Given the description of an element on the screen output the (x, y) to click on. 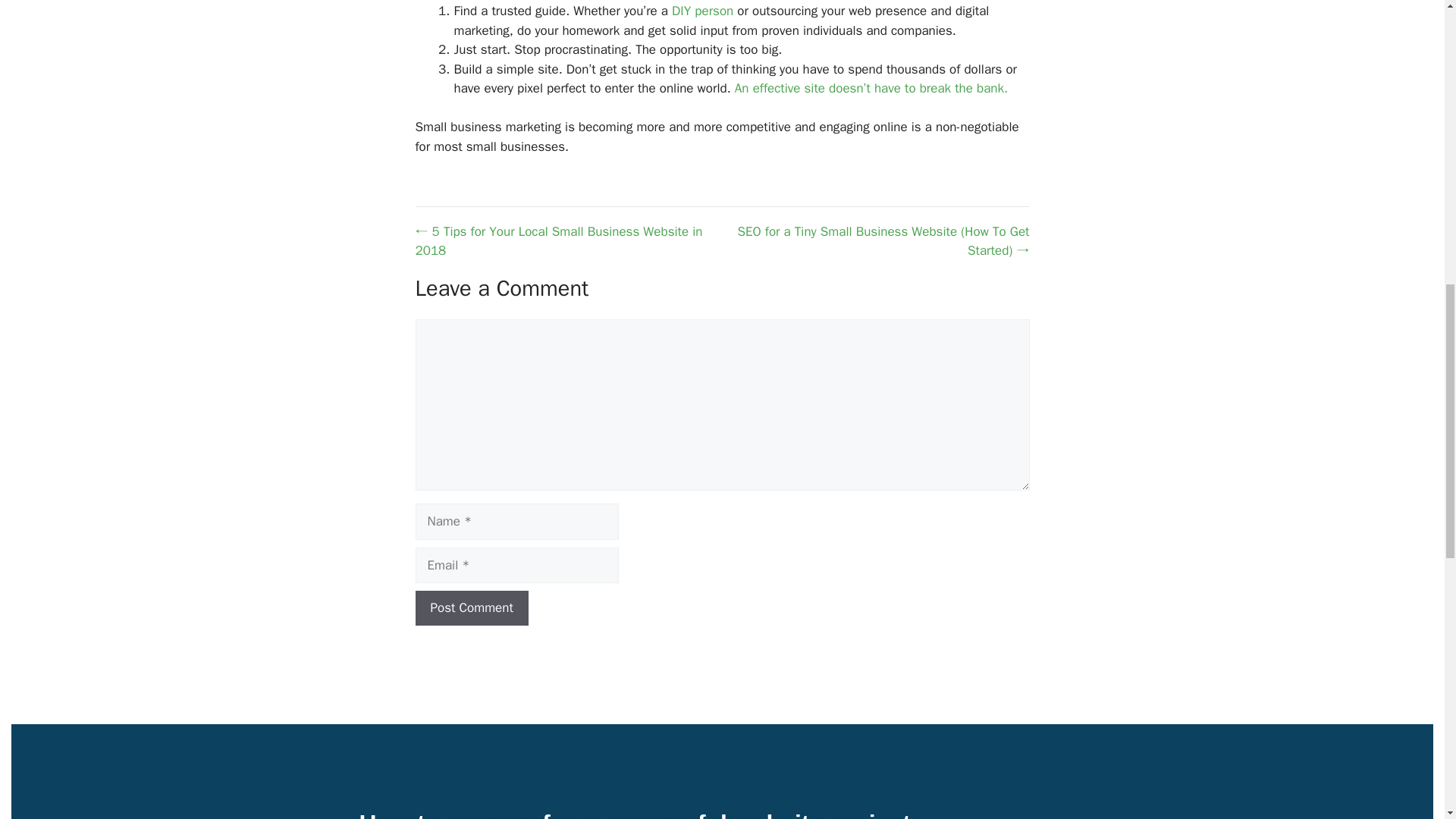
Post Comment (471, 607)
Post Comment (471, 607)
DIY person (702, 10)
